Given the description of an element on the screen output the (x, y) to click on. 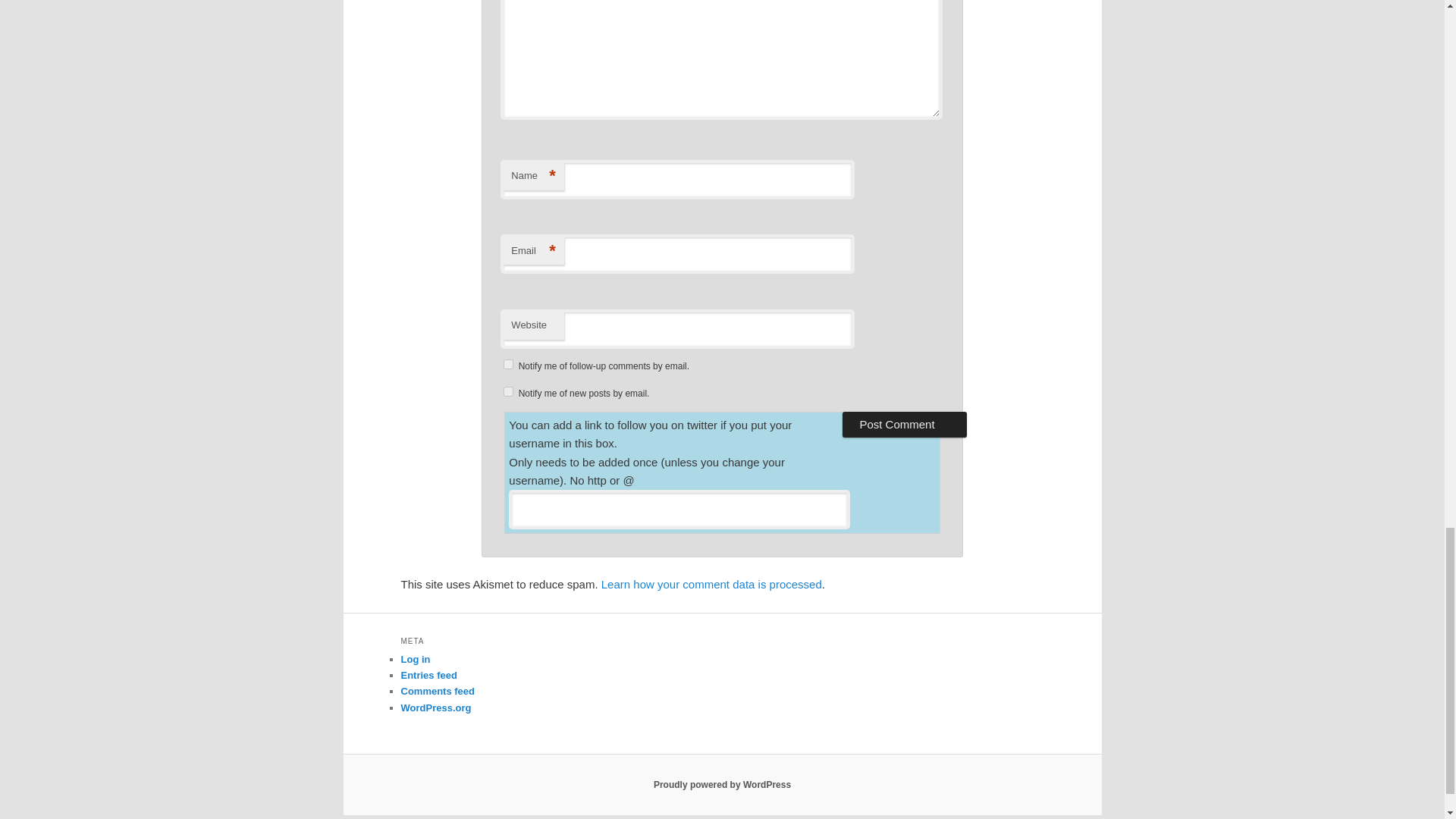
Learn how your comment data is processed (711, 584)
Entries feed (428, 674)
WordPress.org (435, 707)
Post Comment (904, 424)
subscribe (508, 364)
Post Comment (904, 424)
Proudly powered by WordPress (721, 784)
Comments feed (437, 690)
Log in (414, 659)
subscribe (508, 391)
